Given the description of an element on the screen output the (x, y) to click on. 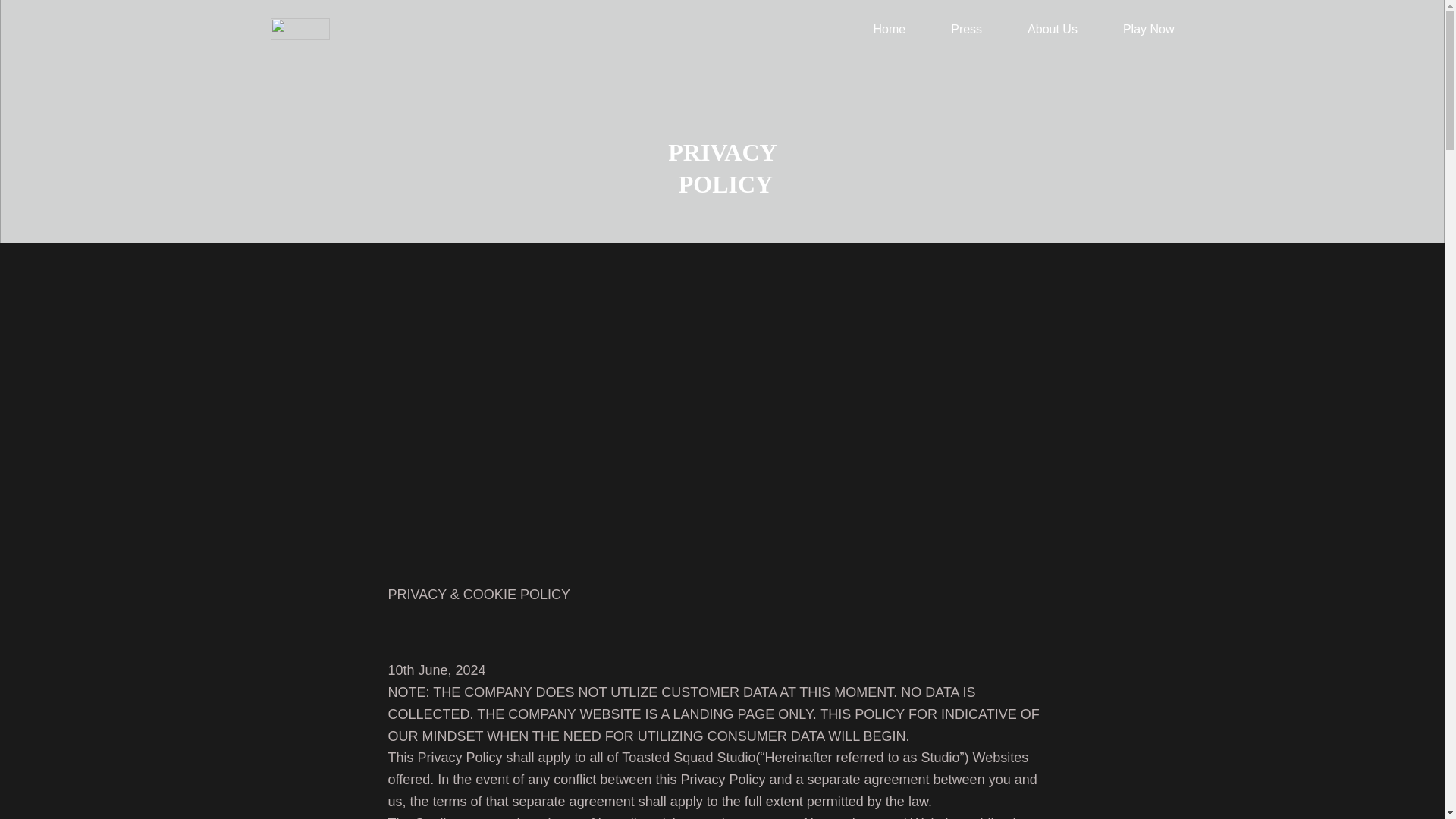
Play Now (1148, 29)
Press (965, 29)
About Us (1052, 29)
Home (889, 29)
